Given the description of an element on the screen output the (x, y) to click on. 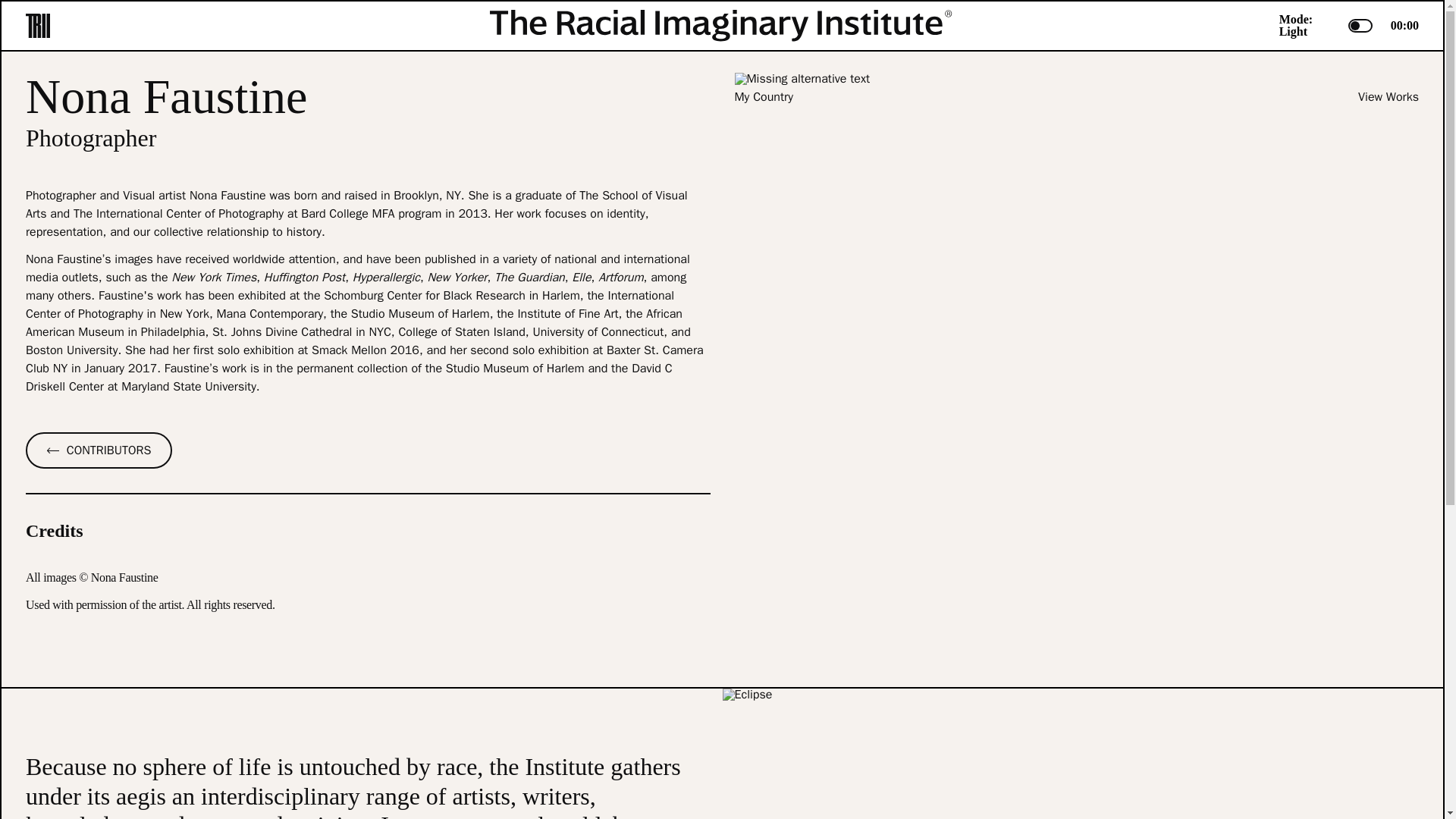
CONTRIBUTORS (98, 450)
View Works (1388, 97)
CONTRIBUTORS (368, 450)
